Given the description of an element on the screen output the (x, y) to click on. 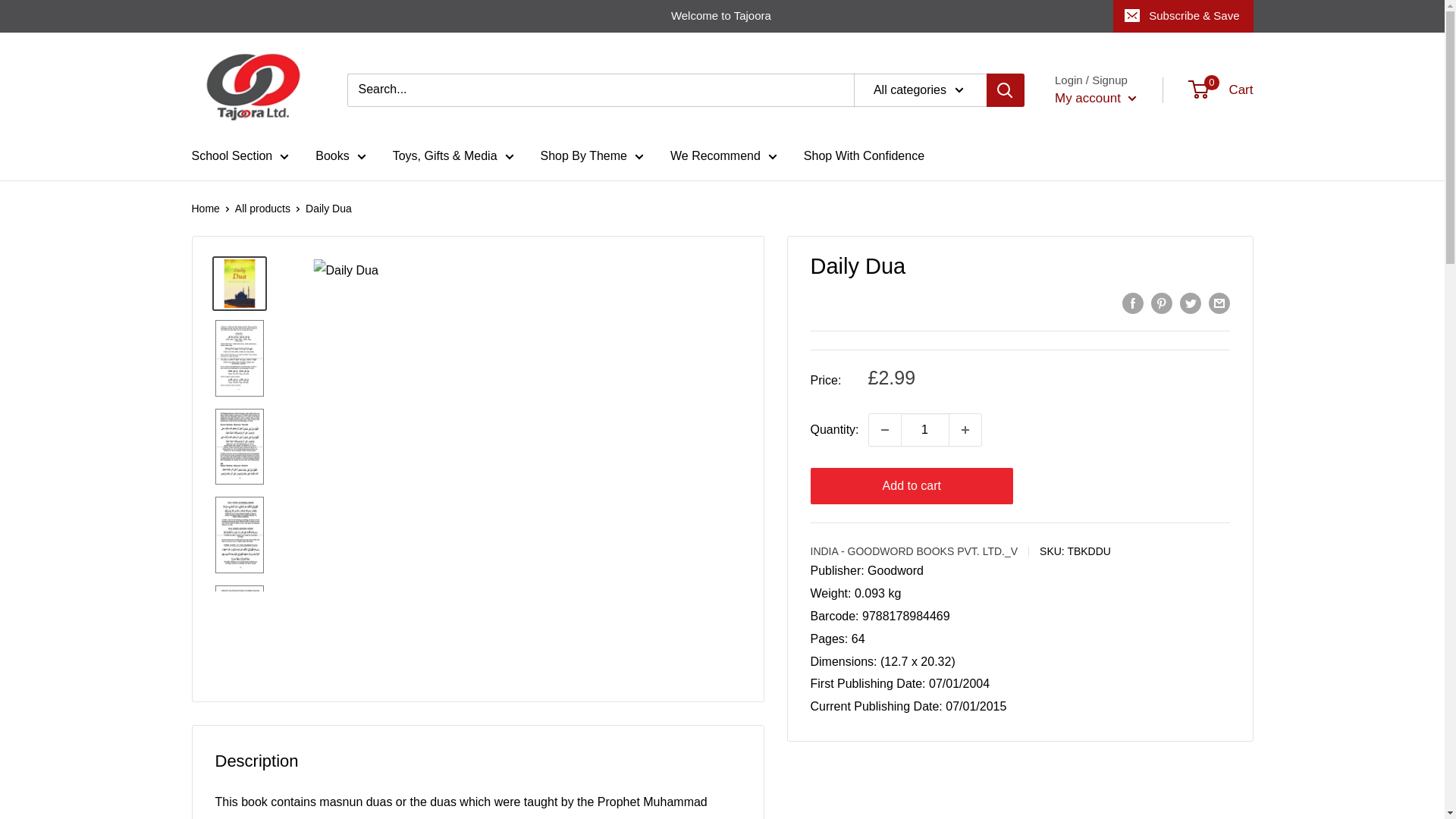
Welcome to Tajoora (652, 15)
Increase quantity by 1 (965, 429)
Decrease quantity by 1 (885, 429)
1 (925, 429)
